Given the description of an element on the screen output the (x, y) to click on. 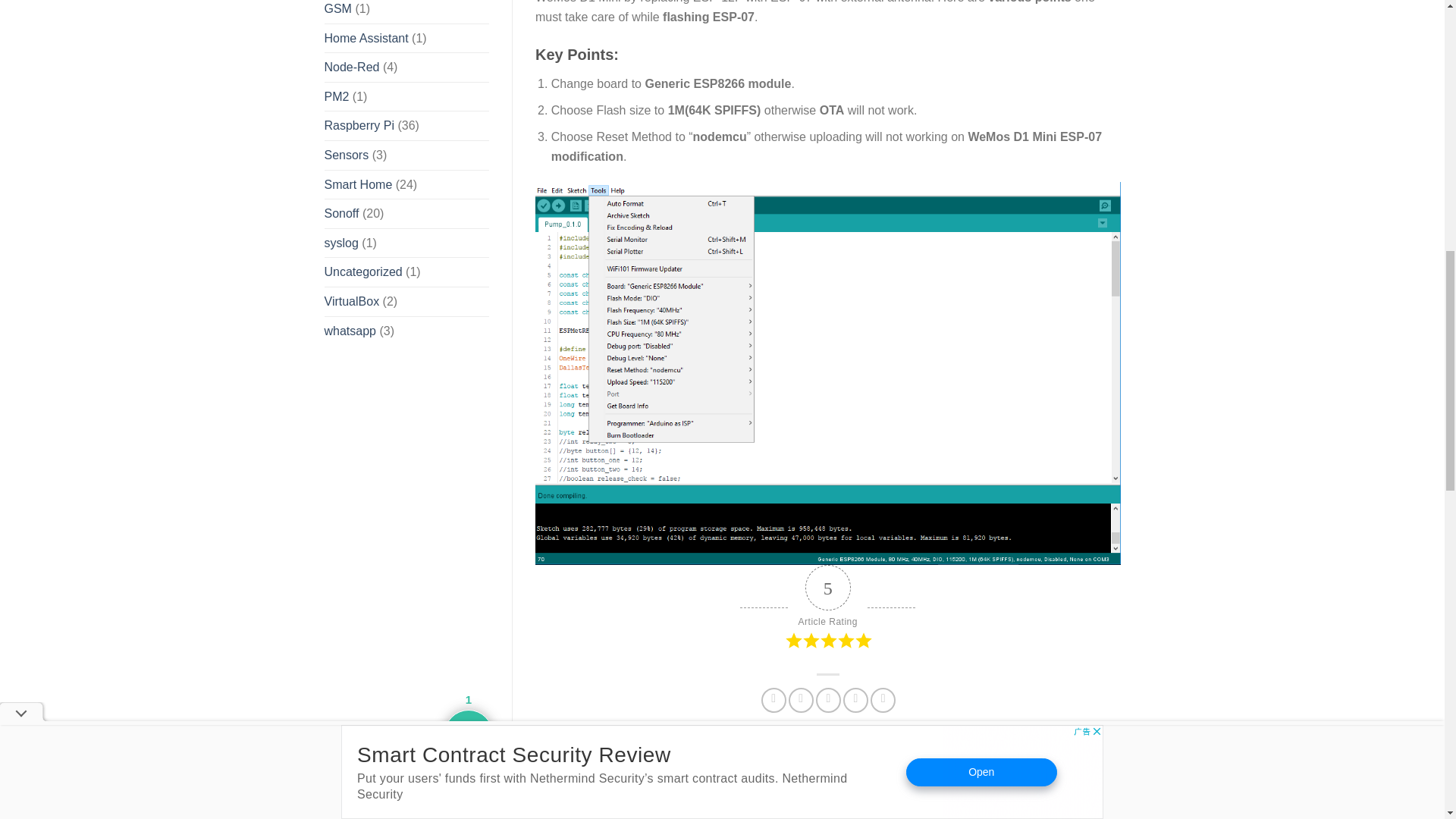
Node-Red (352, 67)
syslog (341, 243)
whatsapp (350, 330)
Home Assistant (366, 38)
Sonoff (341, 213)
Share on Facebook (773, 699)
Raspberry Pi (359, 125)
GSM (338, 11)
Sensors (346, 154)
Smart Home (358, 184)
VirtualBox (352, 301)
Share on Twitter (801, 699)
Uncategorized (363, 271)
Email to a Friend (828, 699)
